Given the description of an element on the screen output the (x, y) to click on. 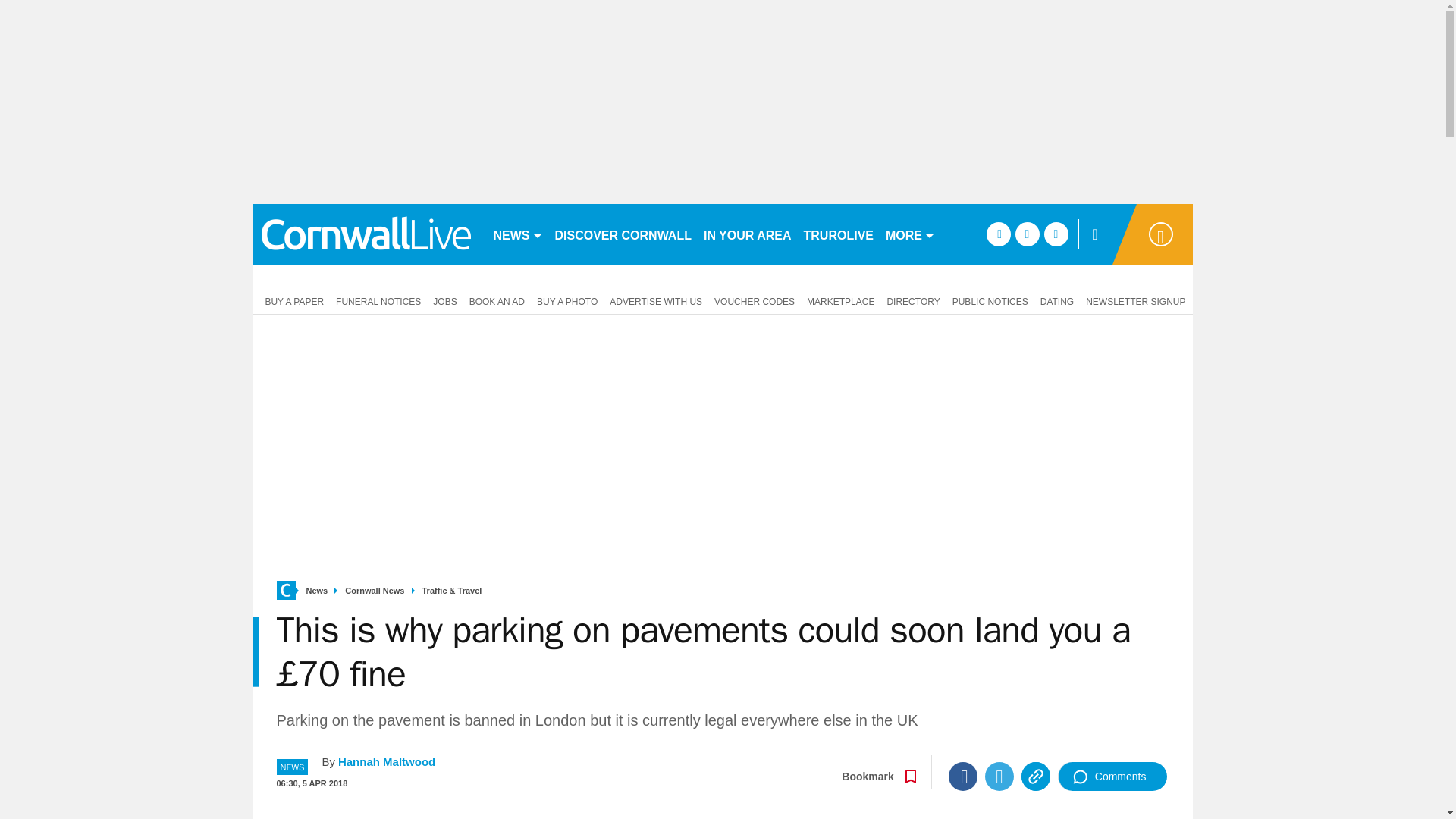
MORE (909, 233)
twitter (1026, 233)
Twitter (999, 776)
DISCOVER CORNWALL (622, 233)
instagram (1055, 233)
IN YOUR AREA (747, 233)
cornwalllive (365, 233)
Facebook (962, 776)
NEWS (517, 233)
Comments (1112, 776)
